Given the description of an element on the screen output the (x, y) to click on. 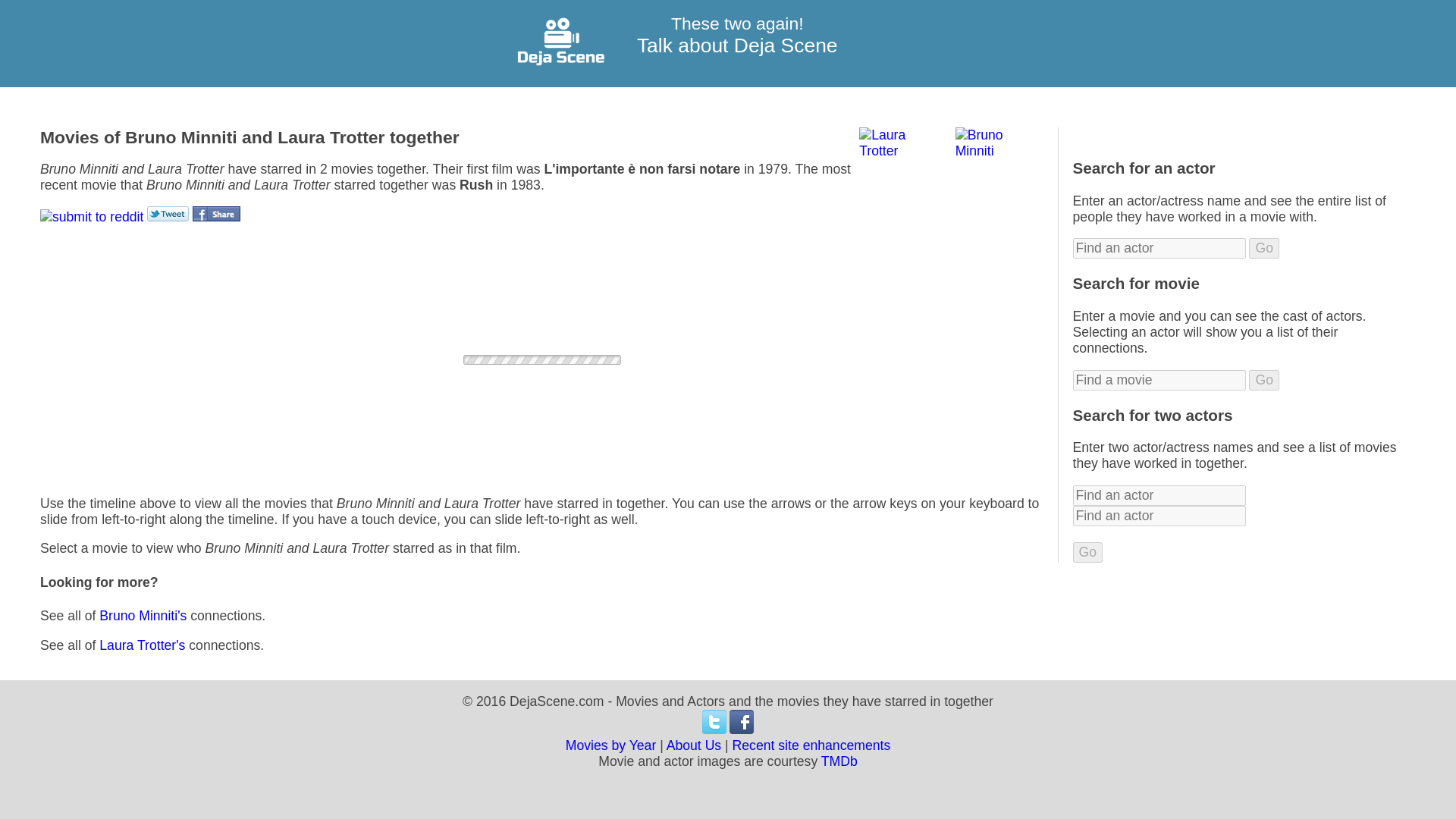
TMDb (839, 761)
Movies by Year (611, 744)
Go (1264, 248)
Go (1088, 552)
Go (1264, 380)
Share on Facebook (216, 213)
About Us (694, 744)
Tweet this (168, 213)
Recent site enhancements (811, 744)
Go (1088, 552)
